Given the description of an element on the screen output the (x, y) to click on. 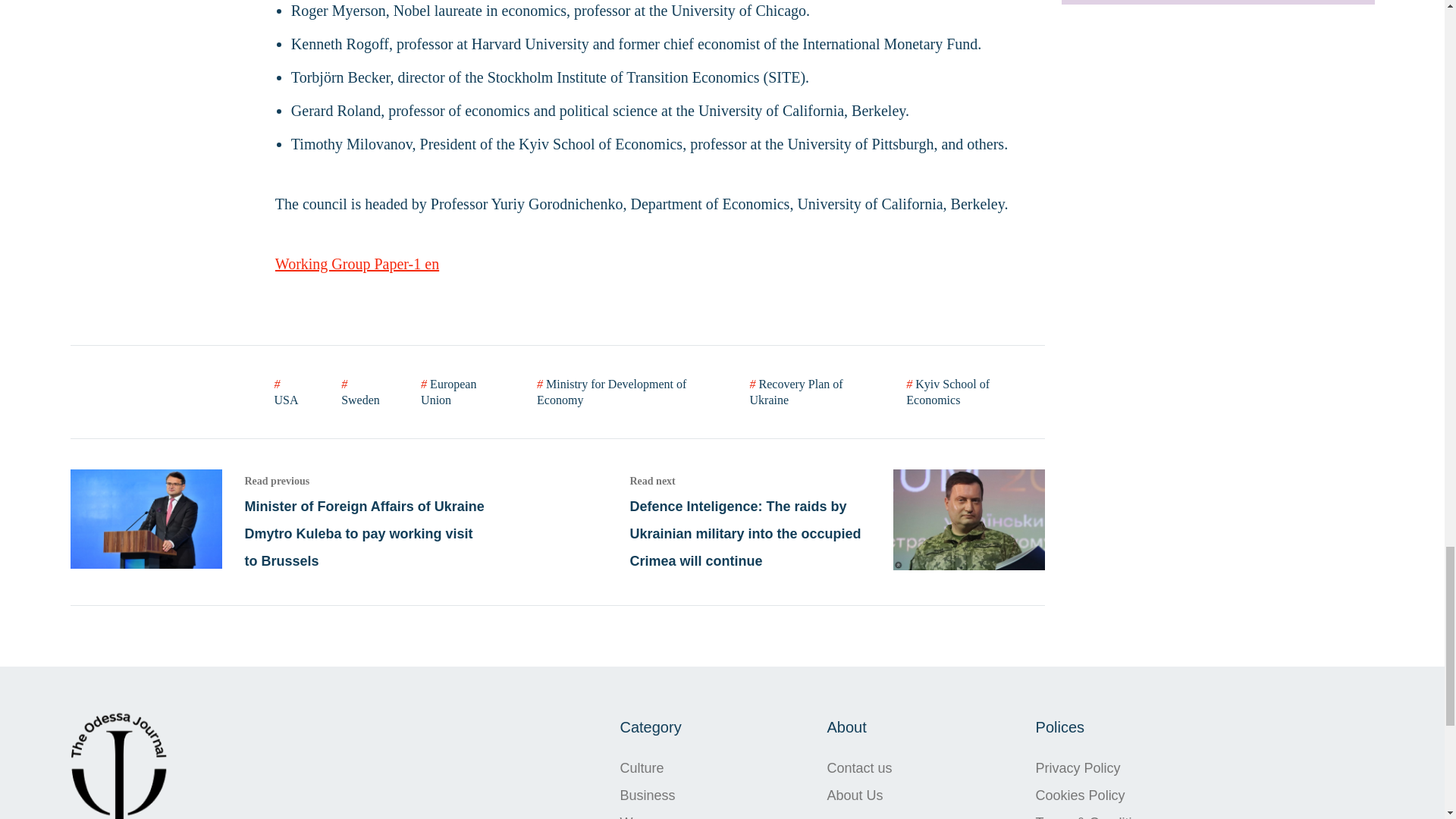
Recovery Plan of Ukraine (809, 391)
Working Group Paper-1 en (357, 262)
Ministry for Development of Economy (624, 391)
Culture (652, 767)
USA (289, 391)
War (652, 813)
Business (652, 794)
European Union (459, 391)
Sweden (361, 391)
